Given the description of an element on the screen output the (x, y) to click on. 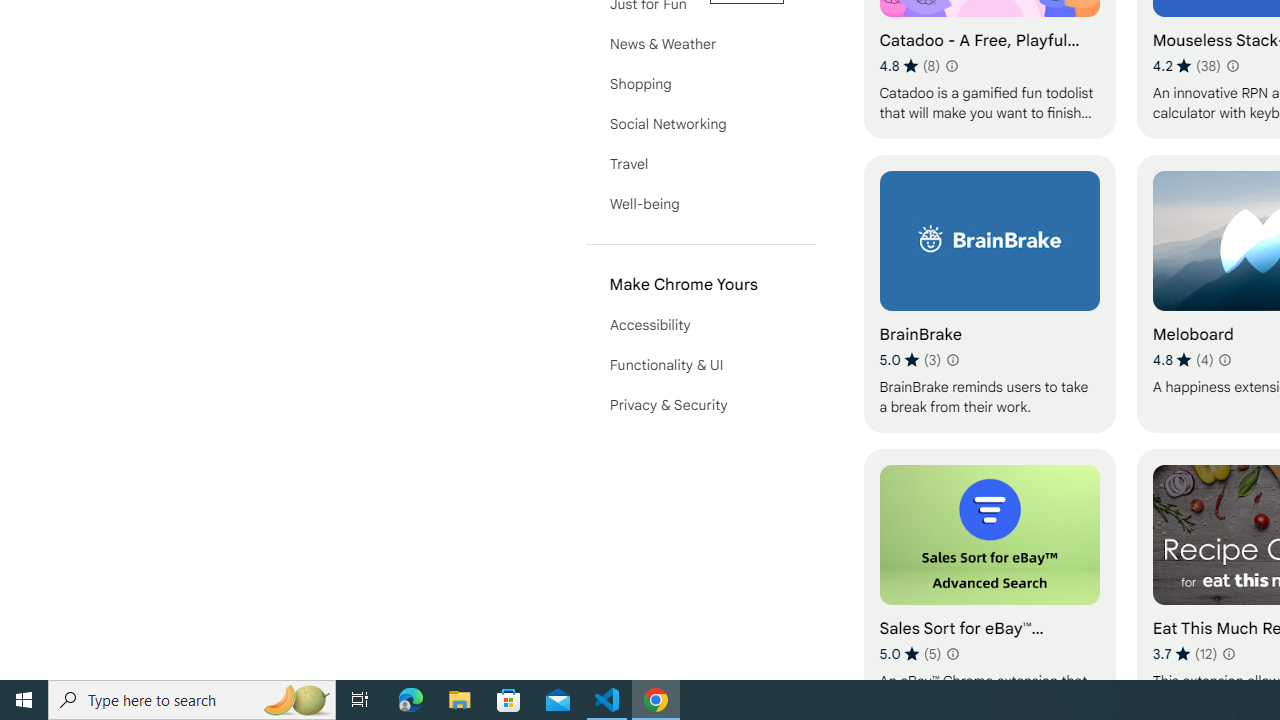
Learn more about results and reviews "Meloboard" (1224, 359)
Well-being (700, 203)
Average rating 4.8 out of 5 stars. 4 ratings. (1182, 359)
Average rating 4.8 out of 5 stars. 8 ratings. (909, 66)
Accessibility (700, 324)
Functionality & UI (700, 364)
Shopping (700, 83)
Travel (700, 164)
Learn more about results and reviews "BrainBrake" (951, 359)
Average rating 3.7 out of 5 stars. 12 ratings. (1185, 653)
Average rating 5 out of 5 stars. 3 ratings. (910, 359)
Average rating 5 out of 5 stars. 5 ratings. (910, 653)
Privacy & Security (700, 404)
